Given the description of an element on the screen output the (x, y) to click on. 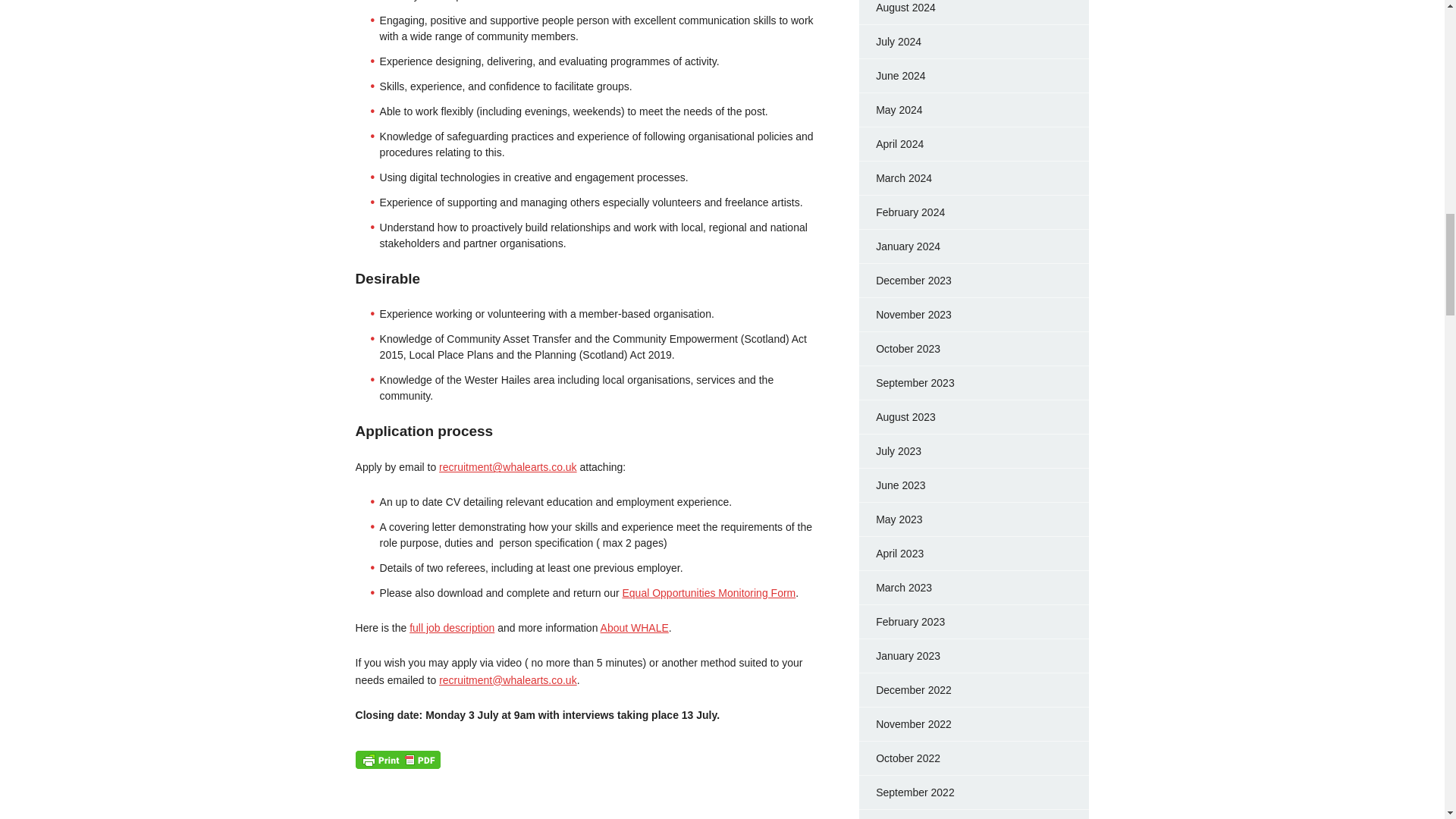
Equal Opportunities Monitoring Form (707, 592)
About WHALE (633, 627)
full job description (452, 627)
